Given the description of an element on the screen output the (x, y) to click on. 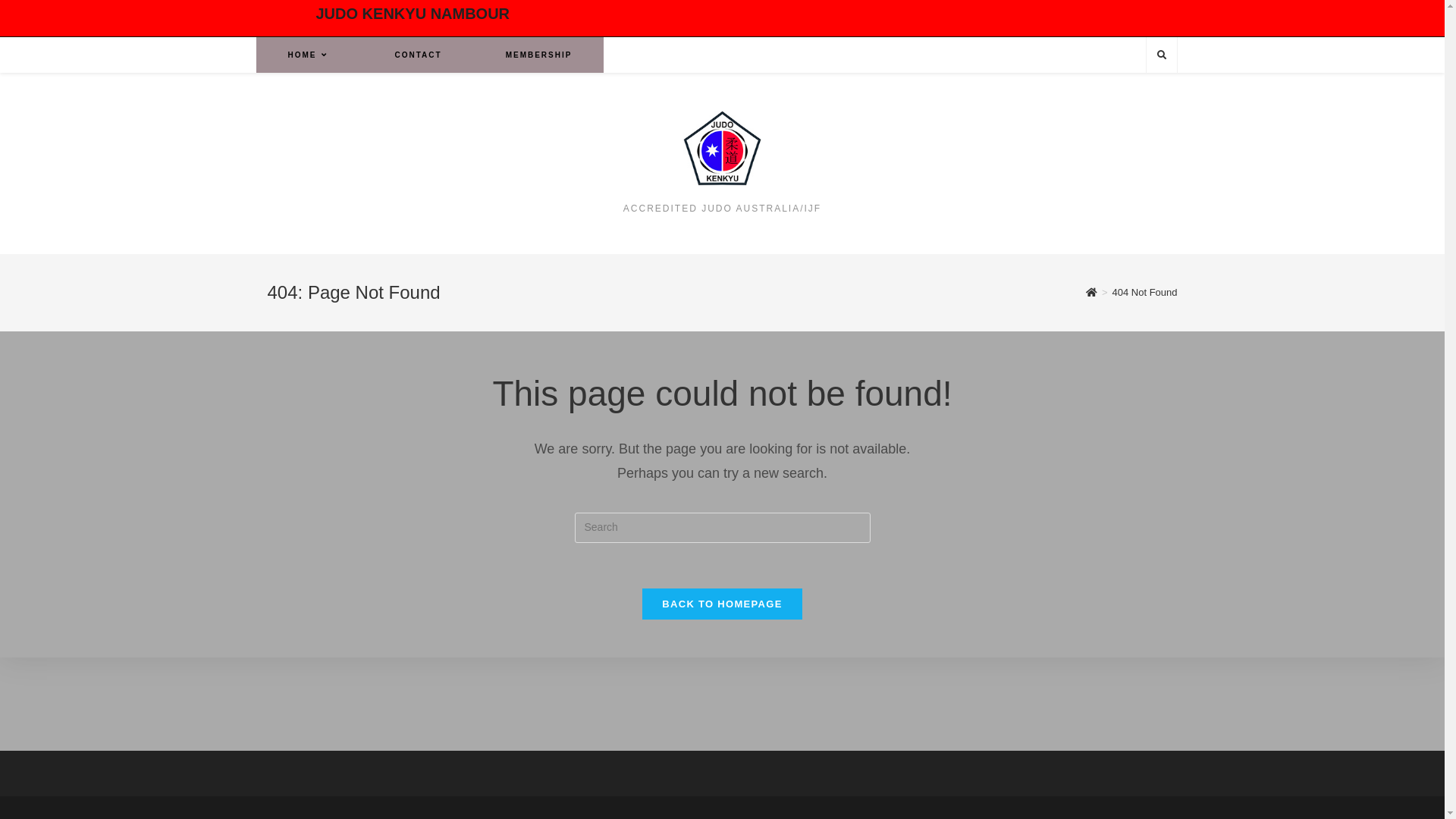
404 Not Found Element type: text (1143, 292)
MEMBERSHIP Element type: text (538, 54)
CONTACT Element type: text (417, 54)
HOME Element type: text (309, 54)
BACK TO HOMEPAGE Element type: text (721, 603)
